Given the description of an element on the screen output the (x, y) to click on. 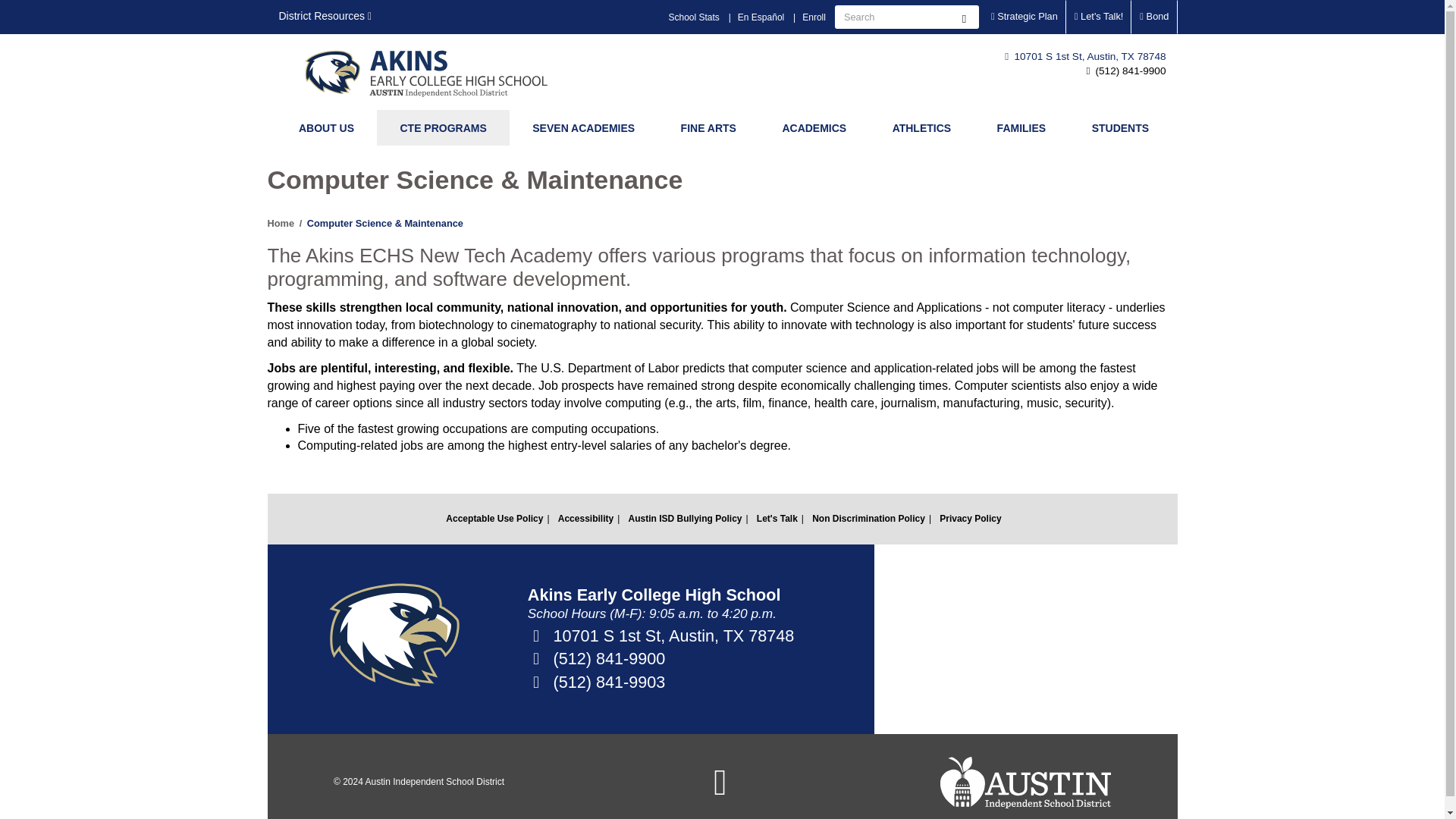
CTE PROGRAMS (442, 127)
School Stats (693, 17)
Search (963, 16)
ABOUT US (326, 127)
Akins Early College High School (437, 72)
Enroll (813, 17)
District Resources (324, 17)
Visit Austin ISD's Website (1024, 782)
Google Map to Akins Early College High School (1024, 638)
Home (437, 72)
  10701 S 1st St, Austin, TX 78748 (1085, 56)
